Given the description of an element on the screen output the (x, y) to click on. 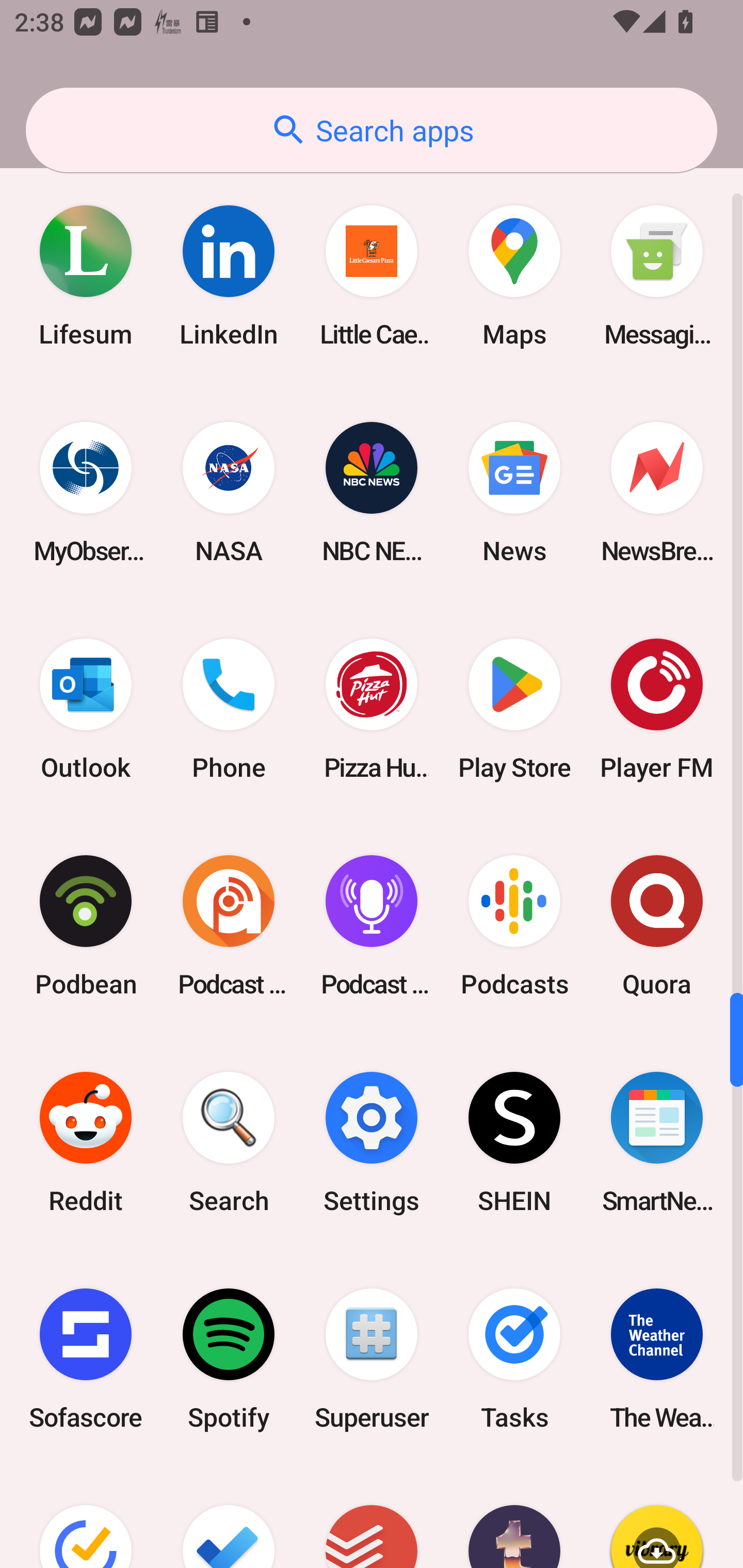
  Search apps (371, 130)
Lifesum (85, 275)
LinkedIn (228, 275)
Little Caesars Pizza (371, 275)
Maps (514, 275)
Messaging (656, 275)
MyObservatory (85, 492)
NASA (228, 492)
NBC NEWS (371, 492)
News (514, 492)
NewsBreak (656, 492)
Outlook (85, 708)
Phone (228, 708)
Pizza Hut HK & Macau (371, 708)
Play Store (514, 708)
Player FM (656, 708)
Podbean (85, 925)
Podcast Addict (228, 925)
Podcast Player (371, 925)
Podcasts (514, 925)
Quora (656, 925)
Reddit (85, 1142)
Search (228, 1142)
Settings (371, 1142)
SHEIN (514, 1142)
SmartNews (656, 1142)
Sofascore (85, 1359)
Spotify (228, 1359)
Superuser (371, 1359)
Tasks (514, 1359)
The Weather Channel (656, 1359)
